Given the description of an element on the screen output the (x, y) to click on. 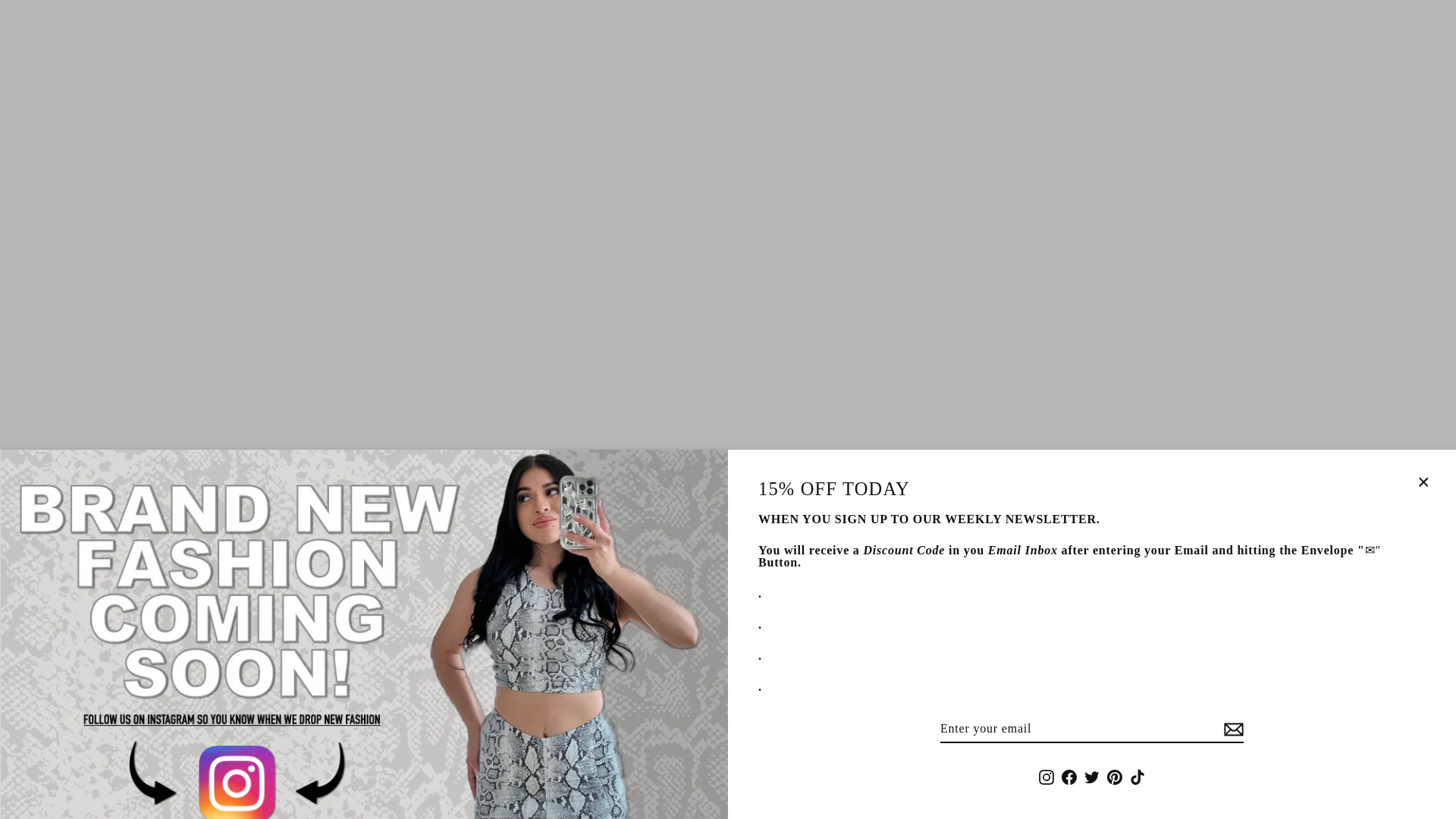
American Express (587, 783)
Apple Pay (622, 783)
Google Pay (692, 783)
Meta Pay (657, 783)
